Given the description of an element on the screen output the (x, y) to click on. 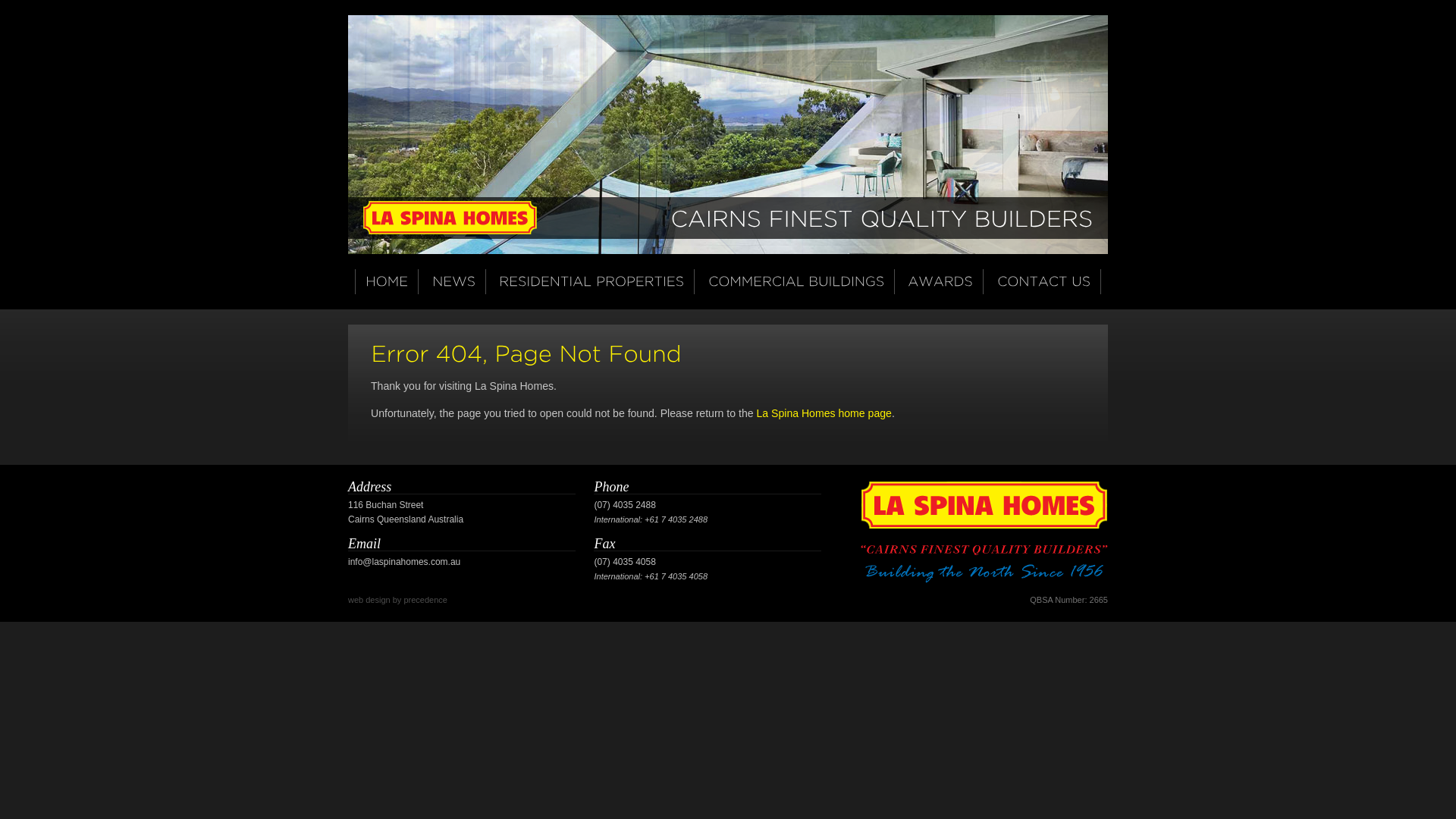
web design by precedence Element type: text (397, 599)
info@laspinahomes.com.au Element type: text (404, 561)
La Spina Homes home page Element type: text (823, 413)
